Given the description of an element on the screen output the (x, y) to click on. 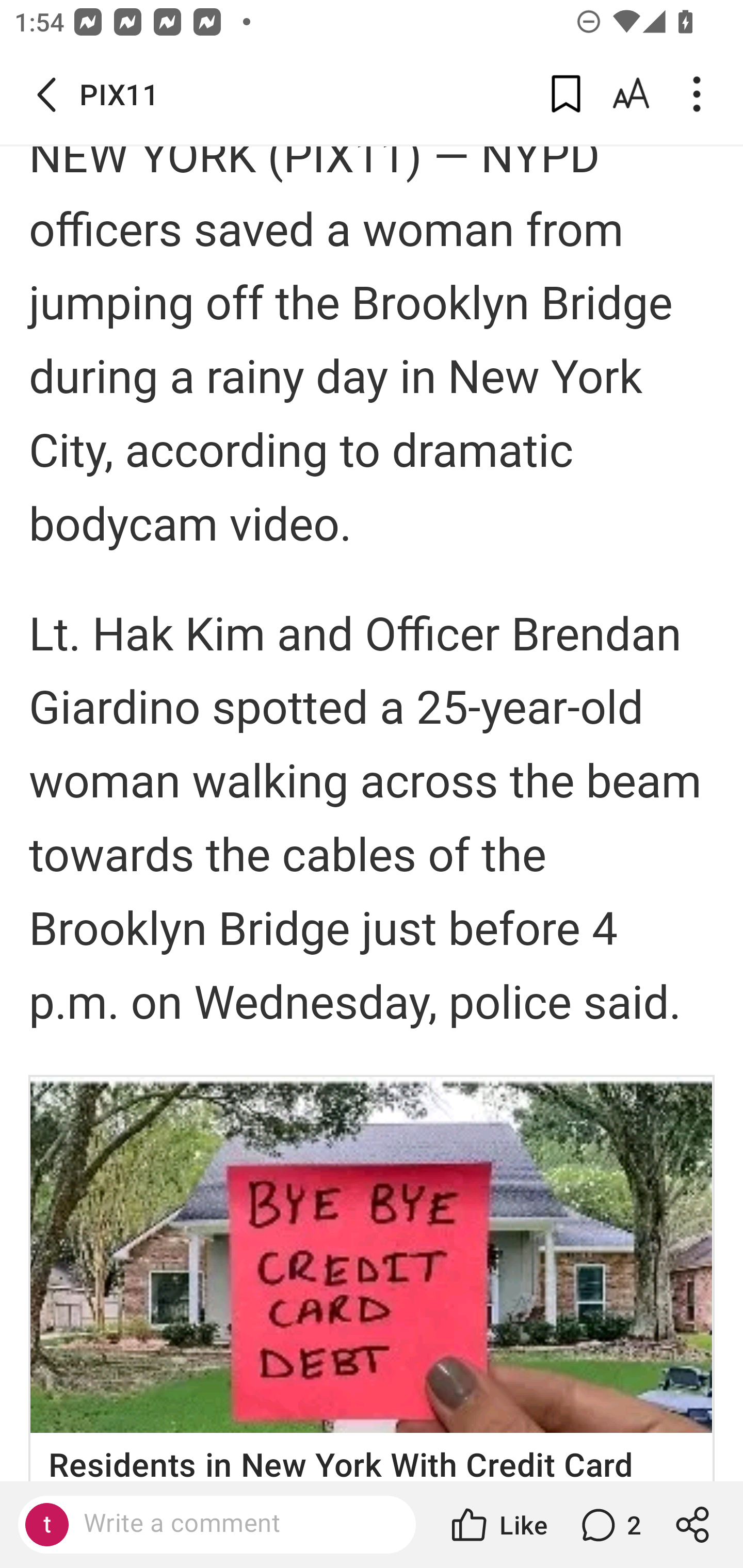
Like (497, 1524)
2 (608, 1524)
Write a comment (234, 1523)
